Given the description of an element on the screen output the (x, y) to click on. 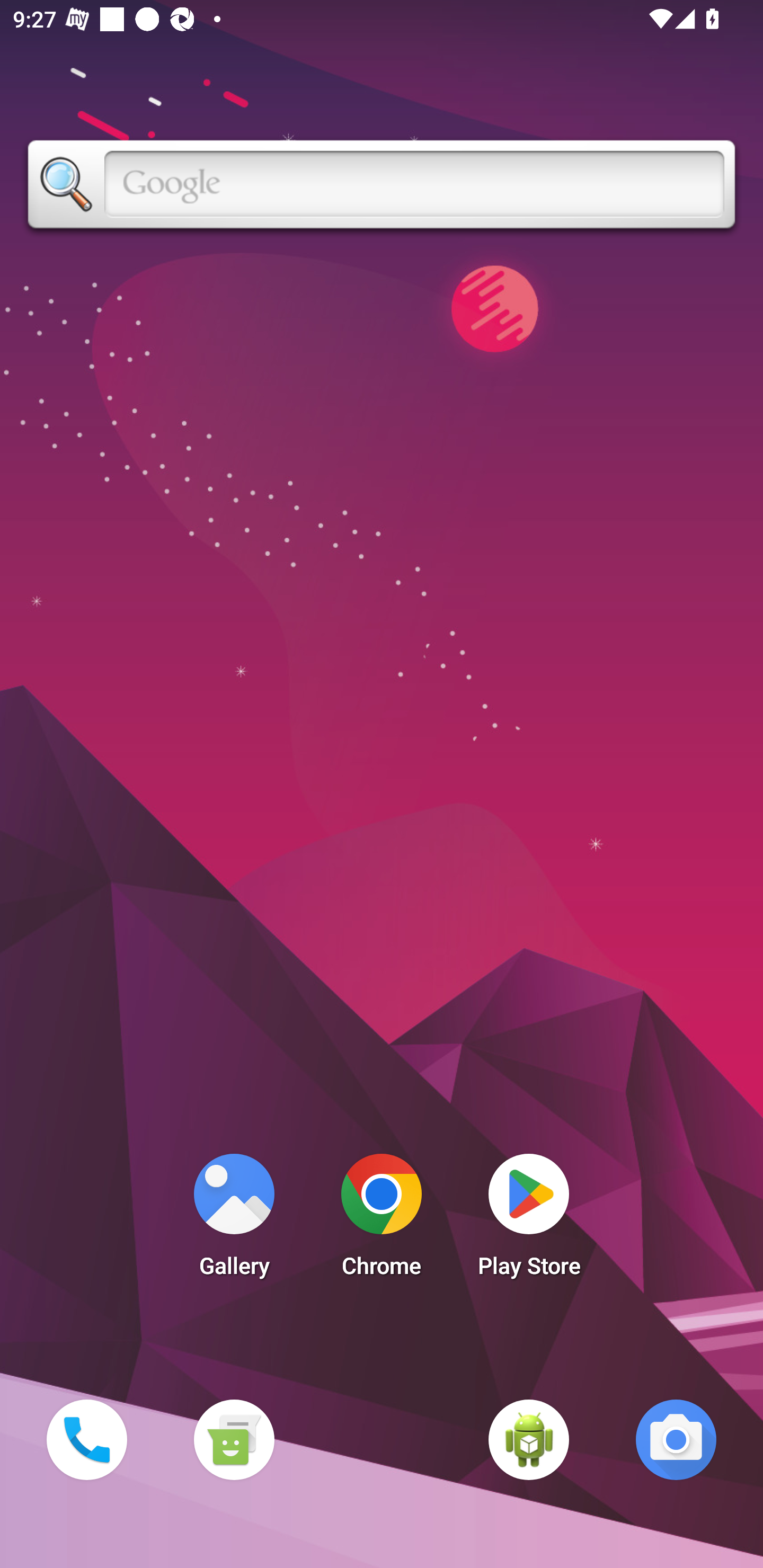
Gallery (233, 1220)
Chrome (381, 1220)
Play Store (528, 1220)
Phone (86, 1439)
Messaging (233, 1439)
WebView Browser Tester (528, 1439)
Camera (676, 1439)
